Given the description of an element on the screen output the (x, y) to click on. 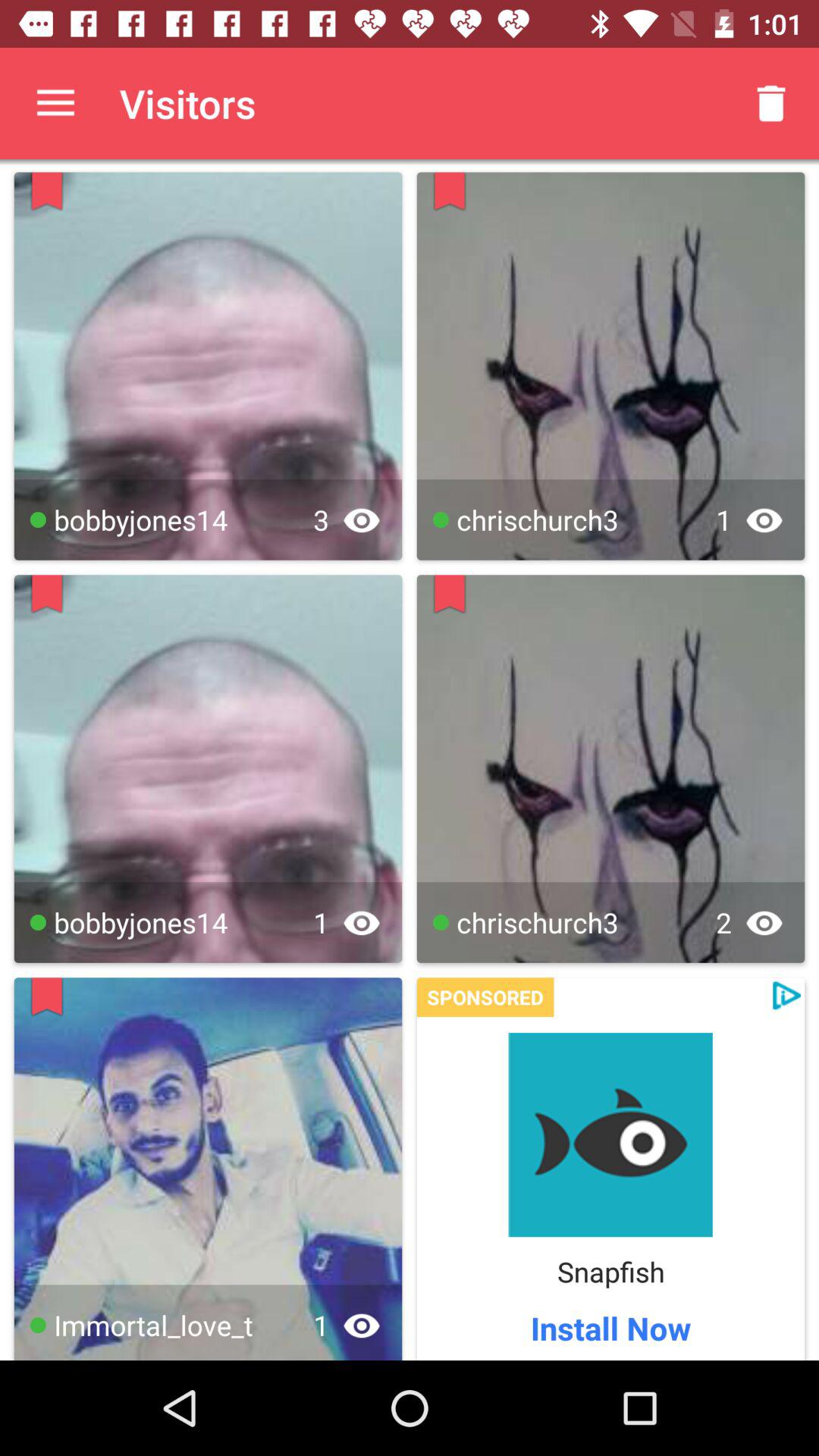
turn on icon next to visitors (771, 103)
